Given the description of an element on the screen output the (x, y) to click on. 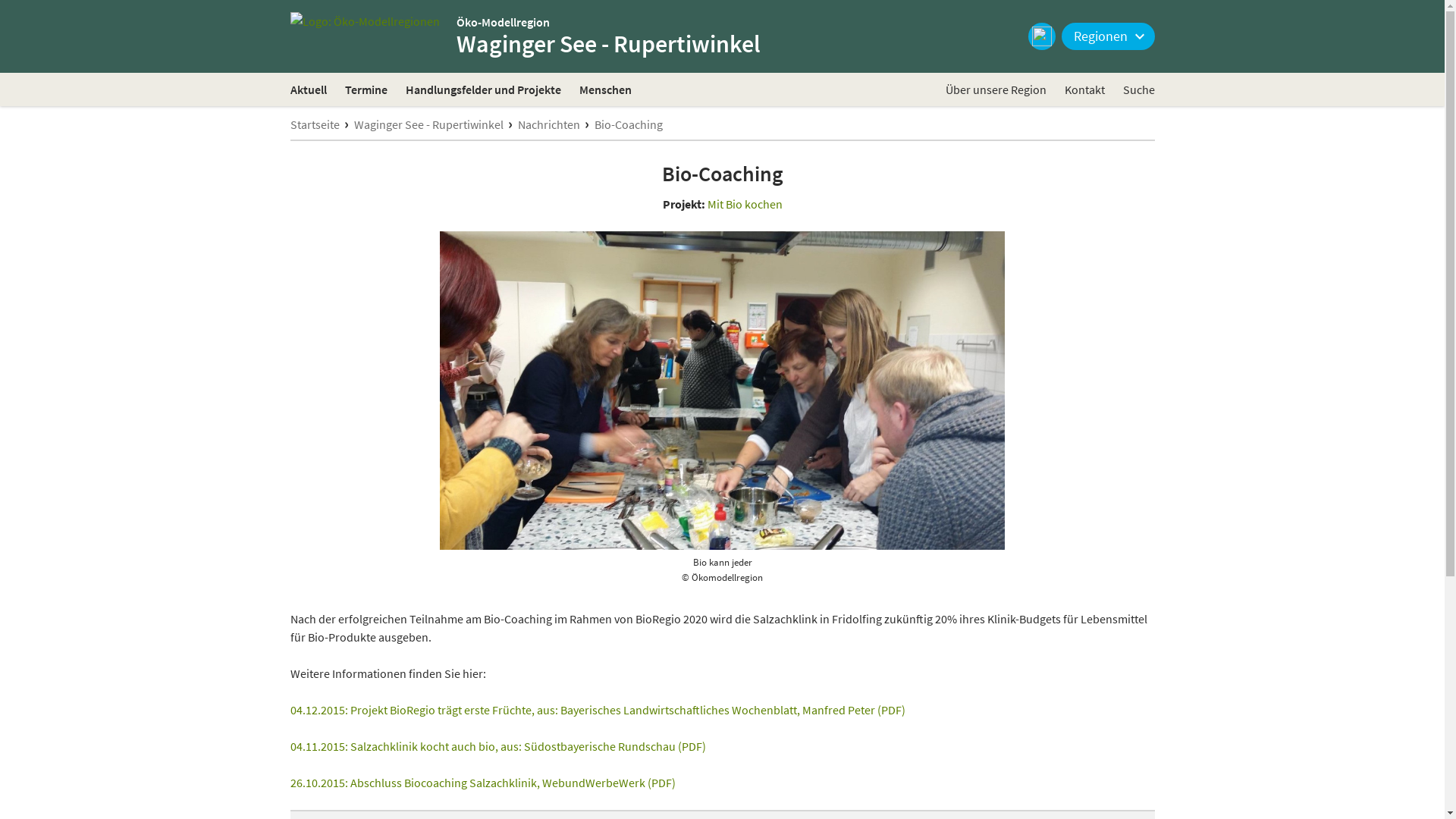
Termine Element type: text (365, 89)
Menschen Element type: text (605, 89)
Kontakt Element type: text (1084, 89)
Nachrichten Element type: text (548, 123)
Startseite Element type: text (313, 123)
Handlungsfelder und Projekte Element type: text (482, 89)
0 Element type: text (19, 34)
Suche Element type: text (1138, 89)
Regionen Element type: text (1107, 36)
Mit Bio kochen Element type: text (743, 203)
Waginger See - Rupertiwinkel Element type: text (427, 123)
Aktuell Element type: text (307, 89)
Bio-Coaching Element type: text (628, 123)
